Given the description of an element on the screen output the (x, y) to click on. 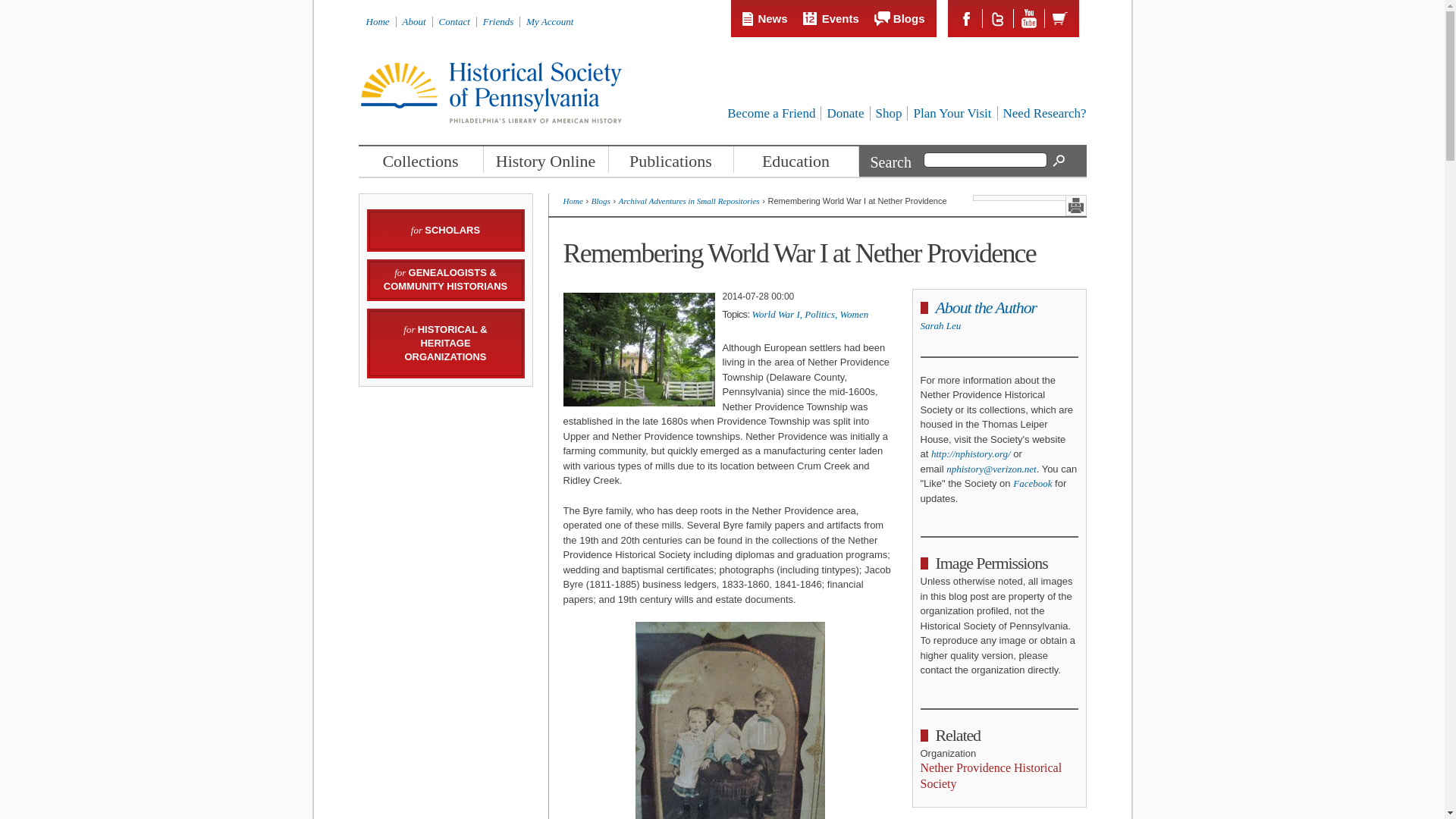
Home (376, 21)
Need Research? (1044, 113)
About (414, 21)
Search (1058, 160)
Collections (420, 159)
My Account (549, 21)
Donate (845, 113)
Events (831, 18)
Plan Your Visit (951, 113)
Shop (888, 113)
Friends (498, 21)
Skip to main content (691, 1)
Blogs (899, 18)
Contact (454, 21)
Become a Friend (770, 113)
